Given the description of an element on the screen output the (x, y) to click on. 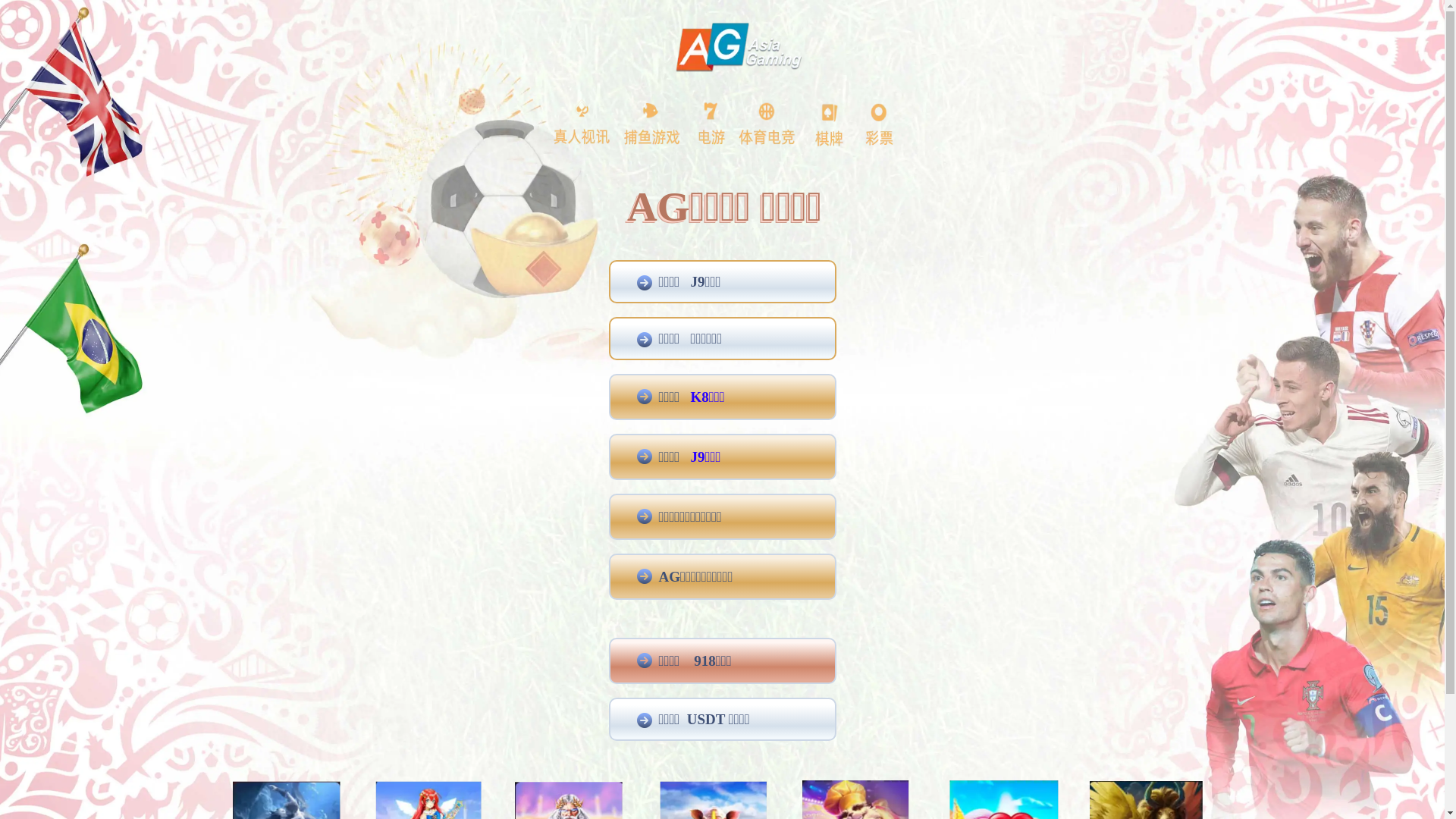
kaiyuanqipai Element type: text (31, 501)
